Given the description of an element on the screen output the (x, y) to click on. 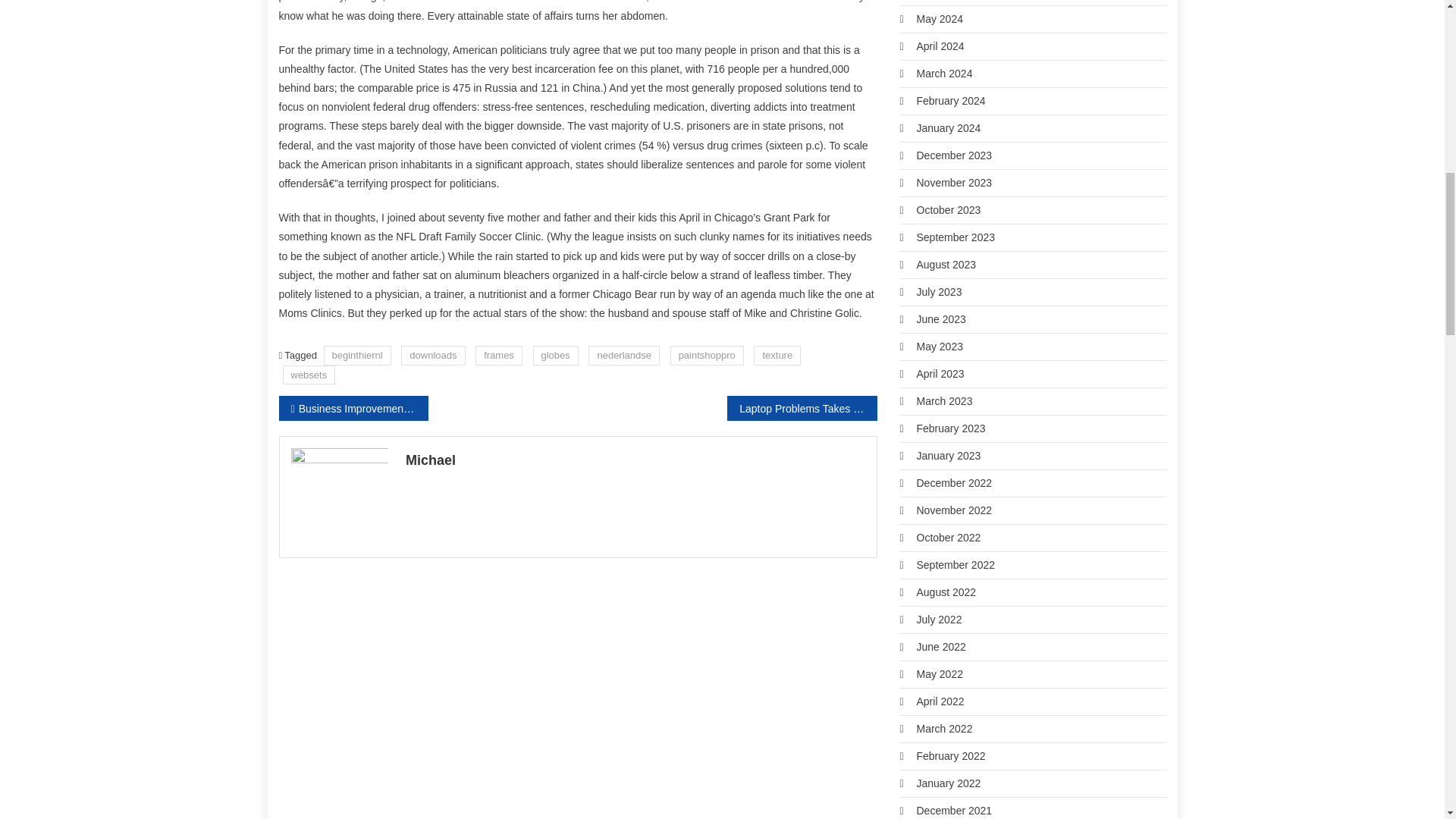
May 2024 (938, 19)
paintshoppro (706, 354)
beginthiernl (357, 354)
frames (499, 354)
globes (555, 354)
Michael (635, 459)
texture (777, 354)
nederlandse (623, 354)
downloads (432, 354)
Laptop Problems Takes SA Examination Offline (801, 407)
